Given the description of an element on the screen output the (x, y) to click on. 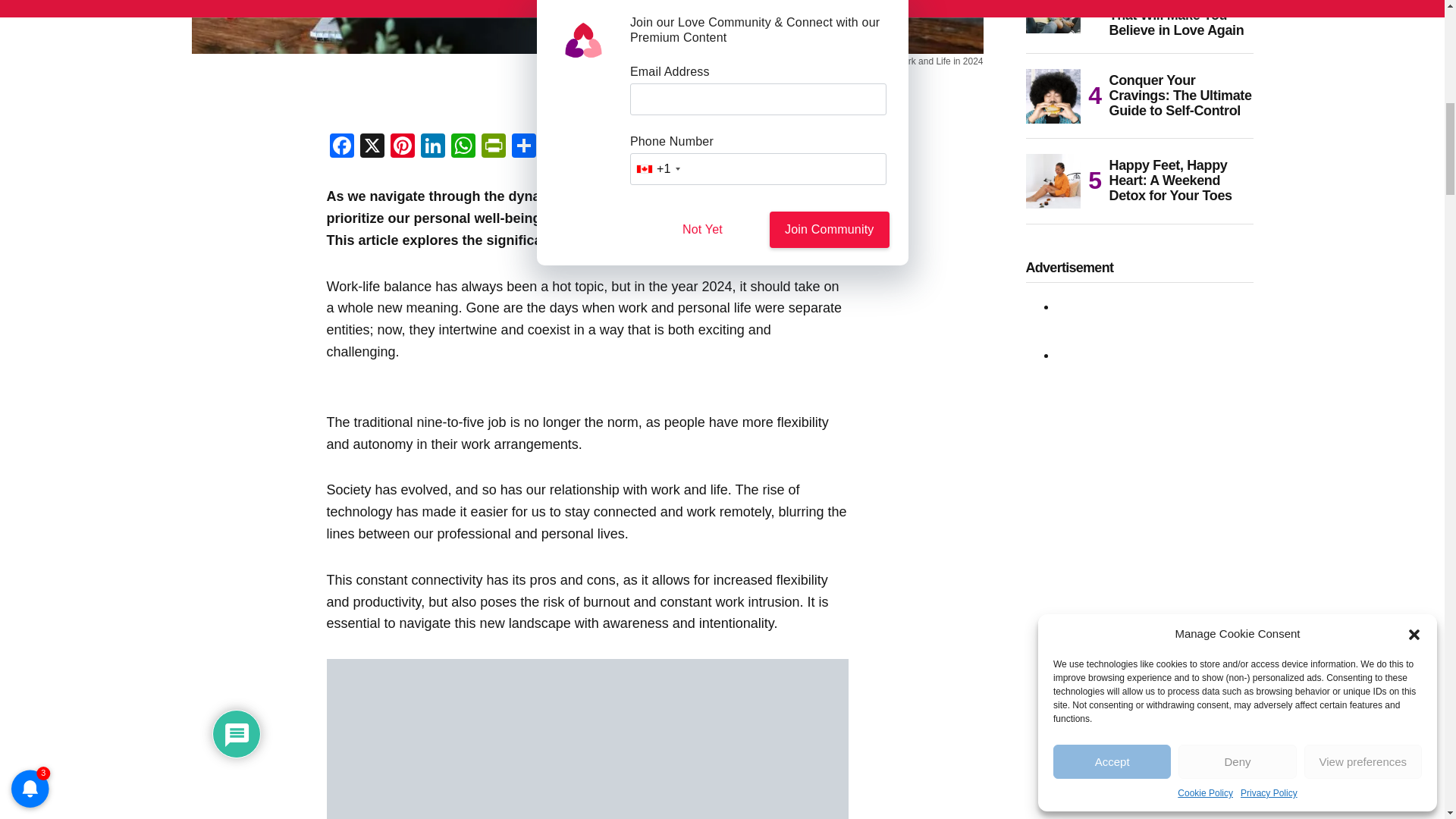
Pinterest (401, 147)
WhatsApp (461, 147)
PrintFriendly (492, 147)
LinkedIn (431, 147)
Facebook (341, 147)
X (371, 147)
